Given the description of an element on the screen output the (x, y) to click on. 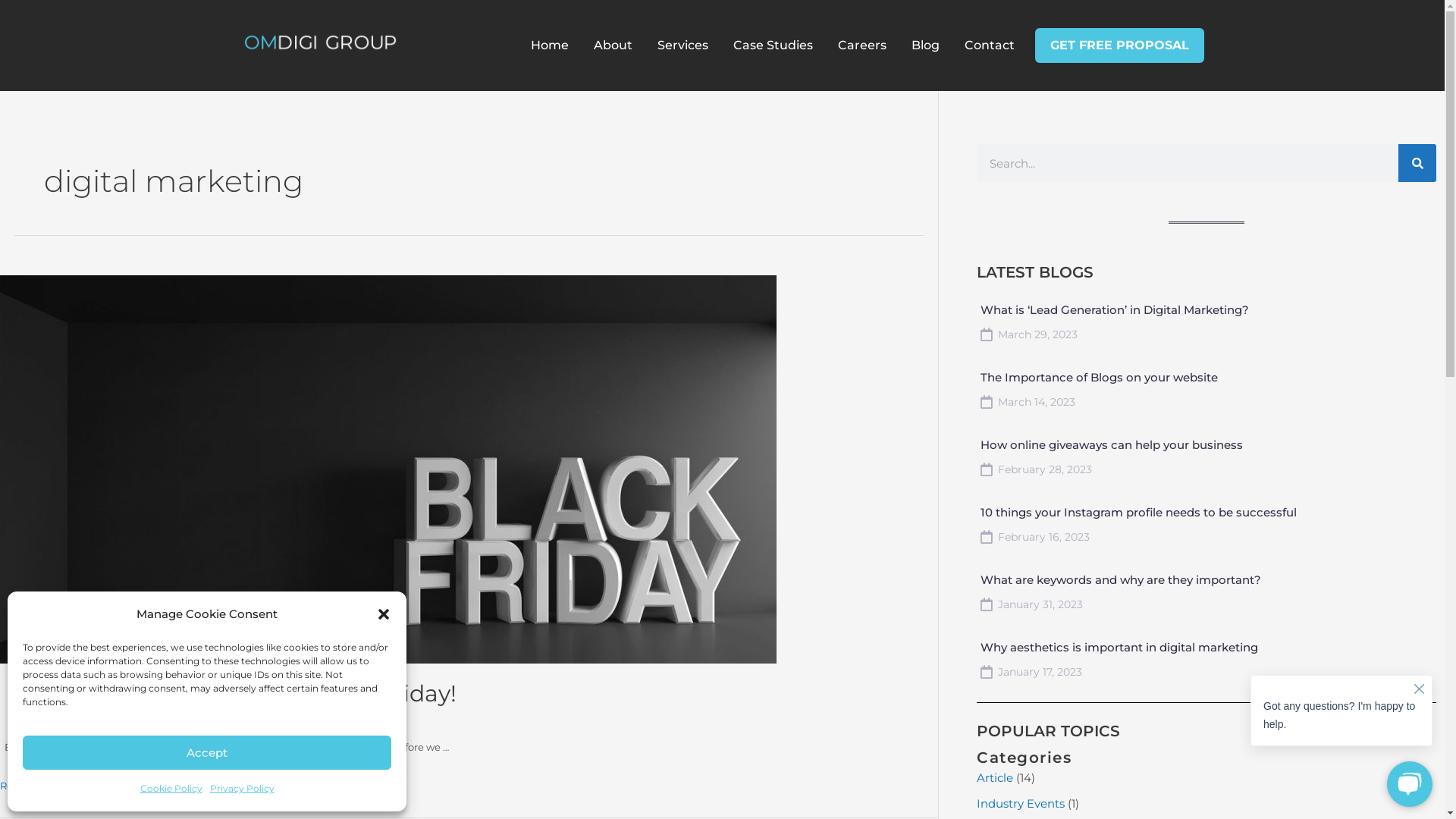
Privacy Policy Element type: text (241, 788)
January 31, 2023 Element type: text (1031, 603)
How to make the most of Black Friday! Element type: text (235, 693)
Case Studies Element type: text (773, 45)
Home Element type: text (549, 45)
Blog Element type: text (925, 45)
Services Element type: text (682, 45)
Contact Element type: text (989, 45)
Michael Channell Element type: text (202, 718)
February 28, 2023 Element type: text (1036, 468)
February 16, 2023 Element type: text (1034, 536)
Latest News Element type: text (106, 718)
Article Element type: text (994, 777)
About Element type: text (612, 45)
GET FREE PROPOSAL Element type: text (1118, 45)
Cookie Policy Element type: text (170, 788)
March 29, 2023 Element type: text (1028, 334)
Knowledge Element type: text (43, 718)
Careers Element type: text (861, 45)
Accept Element type: text (206, 752)
Industry Events Element type: text (1020, 803)
January 17, 2023 Element type: text (1031, 671)
March 14, 2023 Element type: text (1027, 401)
